Given the description of an element on the screen output the (x, y) to click on. 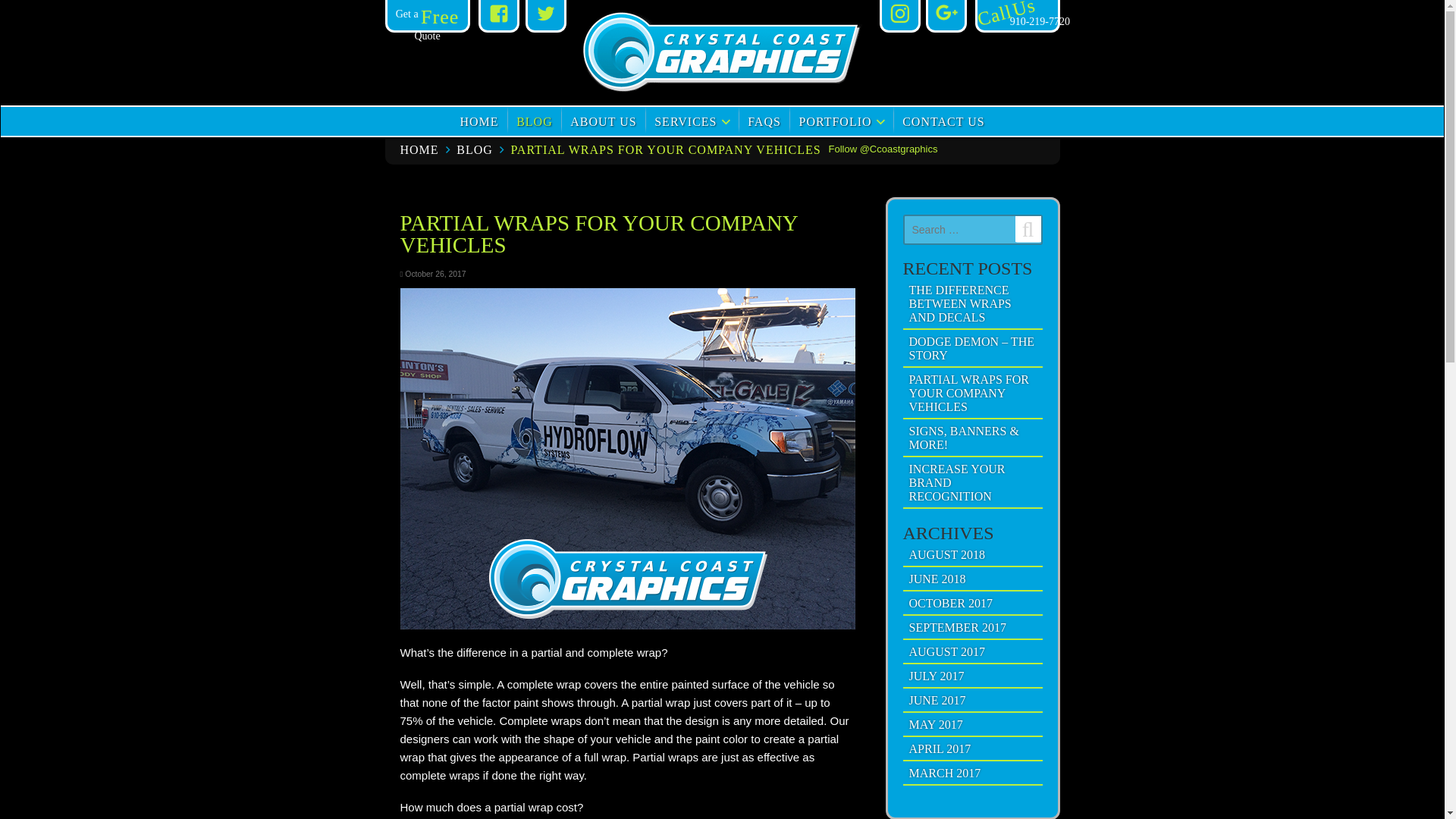
Twitter (545, 15)
Check out all of Crystal Coast Graphics services! (684, 122)
GooglePlus (945, 15)
Call Us 910-219-7720 (1016, 21)
Facebook (498, 15)
HOME (419, 149)
CONTACT US (943, 122)
Search (1027, 229)
Facebook (498, 15)
PORTFOLIO (833, 122)
BLOG (534, 122)
FAQS (764, 122)
SERVICES (684, 122)
Instagram (898, 15)
